Given the description of an element on the screen output the (x, y) to click on. 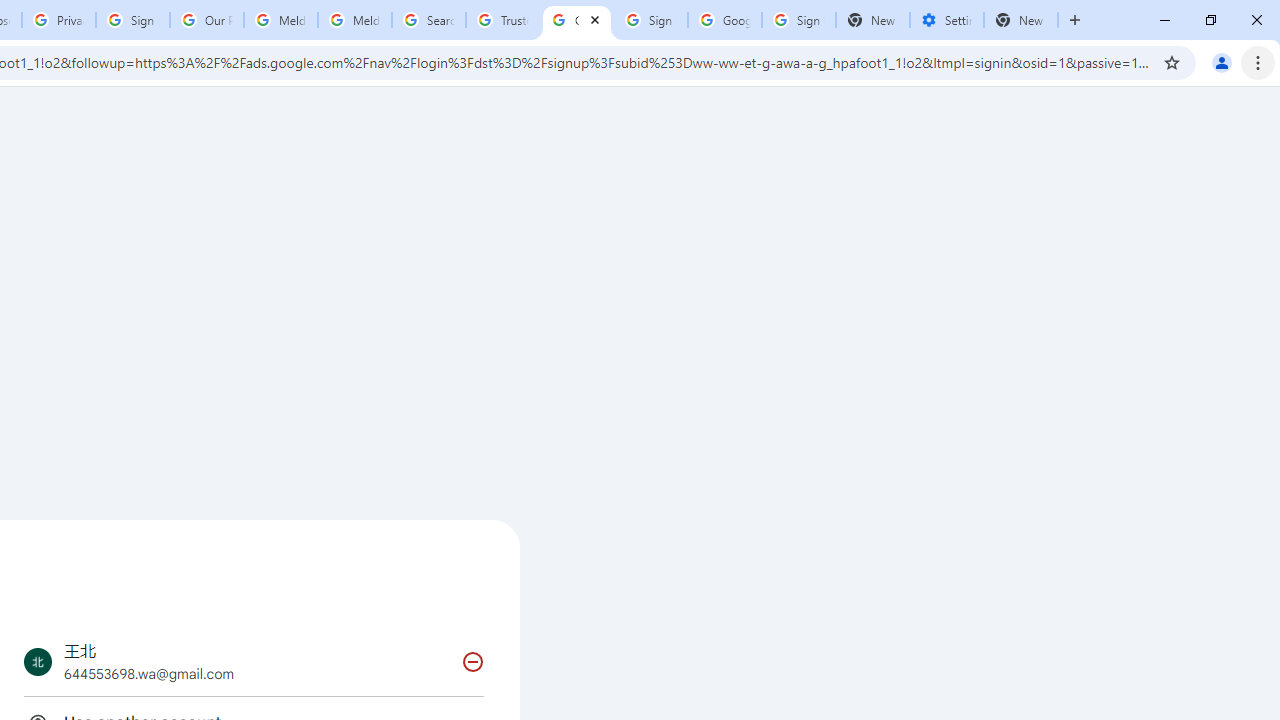
Search our Doodle Library Collection - Google Doodles (428, 20)
Trusted Information and Content - Google Safety Center (502, 20)
Sign in - Google Accounts (798, 20)
Google Ads - Sign in (577, 20)
